Given the description of an element on the screen output the (x, y) to click on. 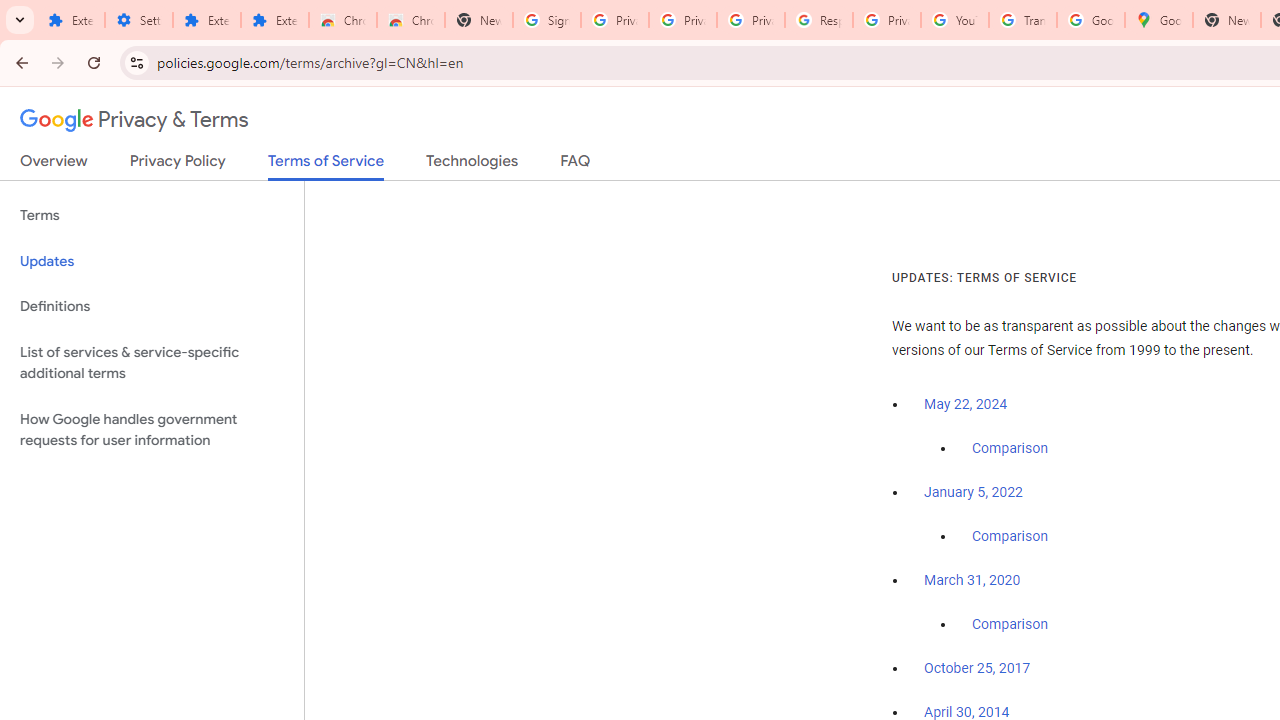
Chrome Web Store (342, 20)
New Tab (479, 20)
Google Maps (1158, 20)
Extensions (274, 20)
How Google handles government requests for user information (152, 429)
List of services & service-specific additional terms (152, 362)
Comparison (1009, 625)
May 22, 2024 (966, 404)
March 31, 2020 (972, 580)
